Given the description of an element on the screen output the (x, y) to click on. 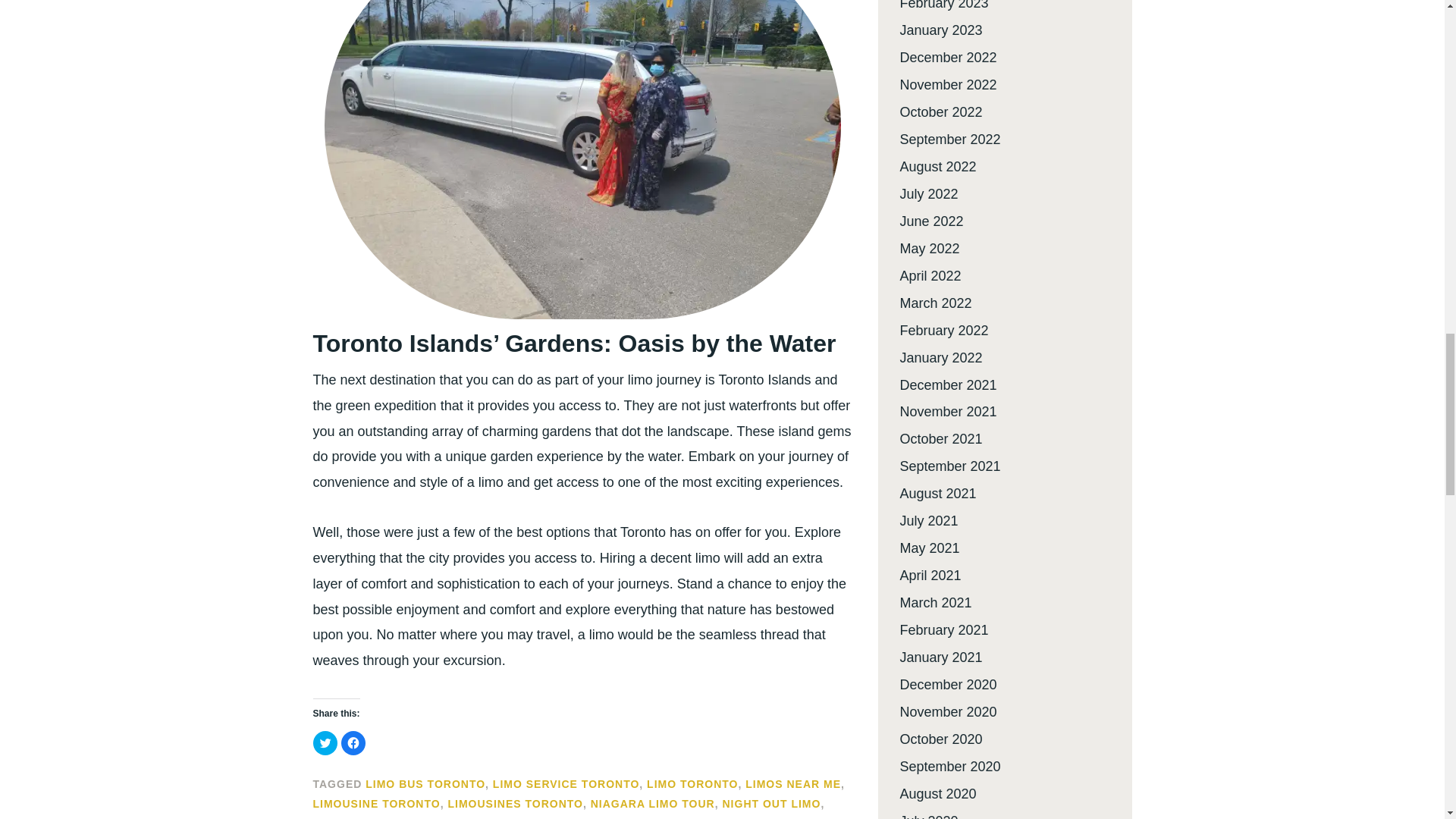
NIGHT OUT LIMO (771, 803)
LIMO TORONTO (692, 784)
Click to share on Facebook (352, 743)
LIMO SERVICE TORONTO (566, 784)
LIMOUSINES TORONTO (514, 803)
LIMOUSINE TORONTO (376, 803)
LIMOS NEAR ME (793, 784)
NIAGARA LIMO TOUR (652, 803)
